Given the description of an element on the screen output the (x, y) to click on. 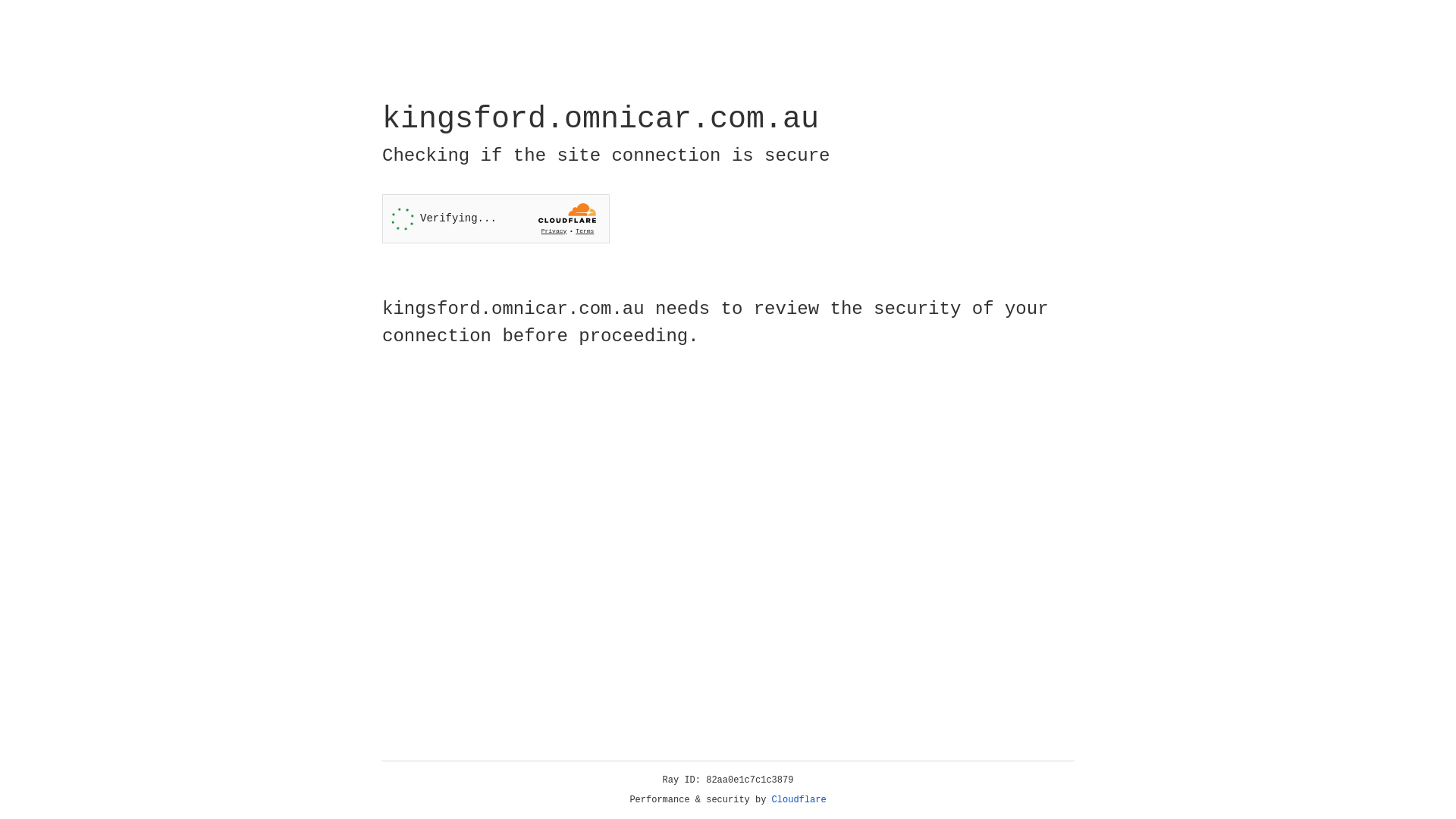
Widget containing a Cloudflare security challenge Element type: hover (495, 218)
Cloudflare Element type: text (798, 799)
